Given the description of an element on the screen output the (x, y) to click on. 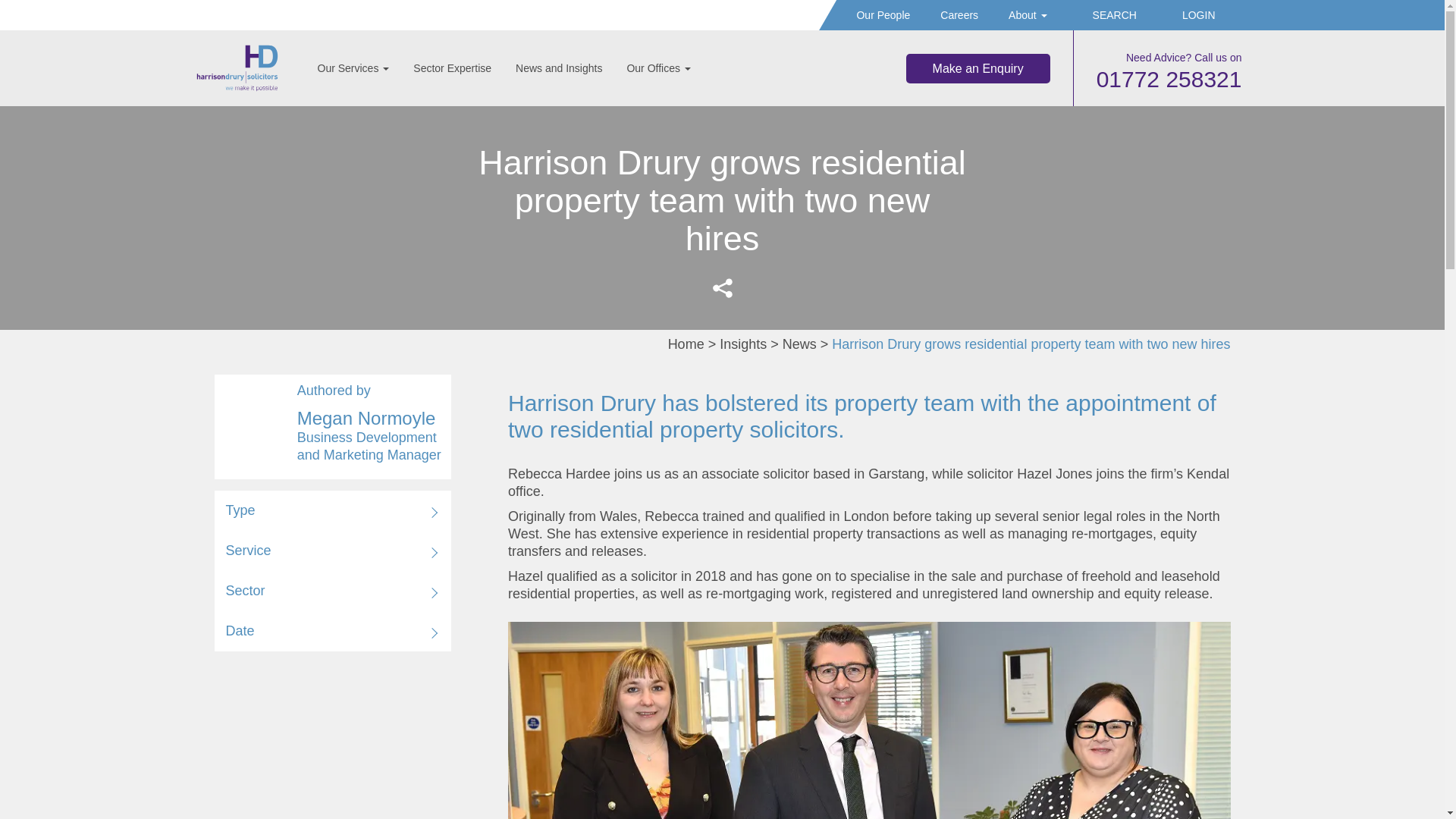
About (1026, 15)
Careers (958, 15)
Our People (882, 15)
Our Services (352, 68)
LOGIN (1190, 14)
SEARCH (1106, 14)
